Given the description of an element on the screen output the (x, y) to click on. 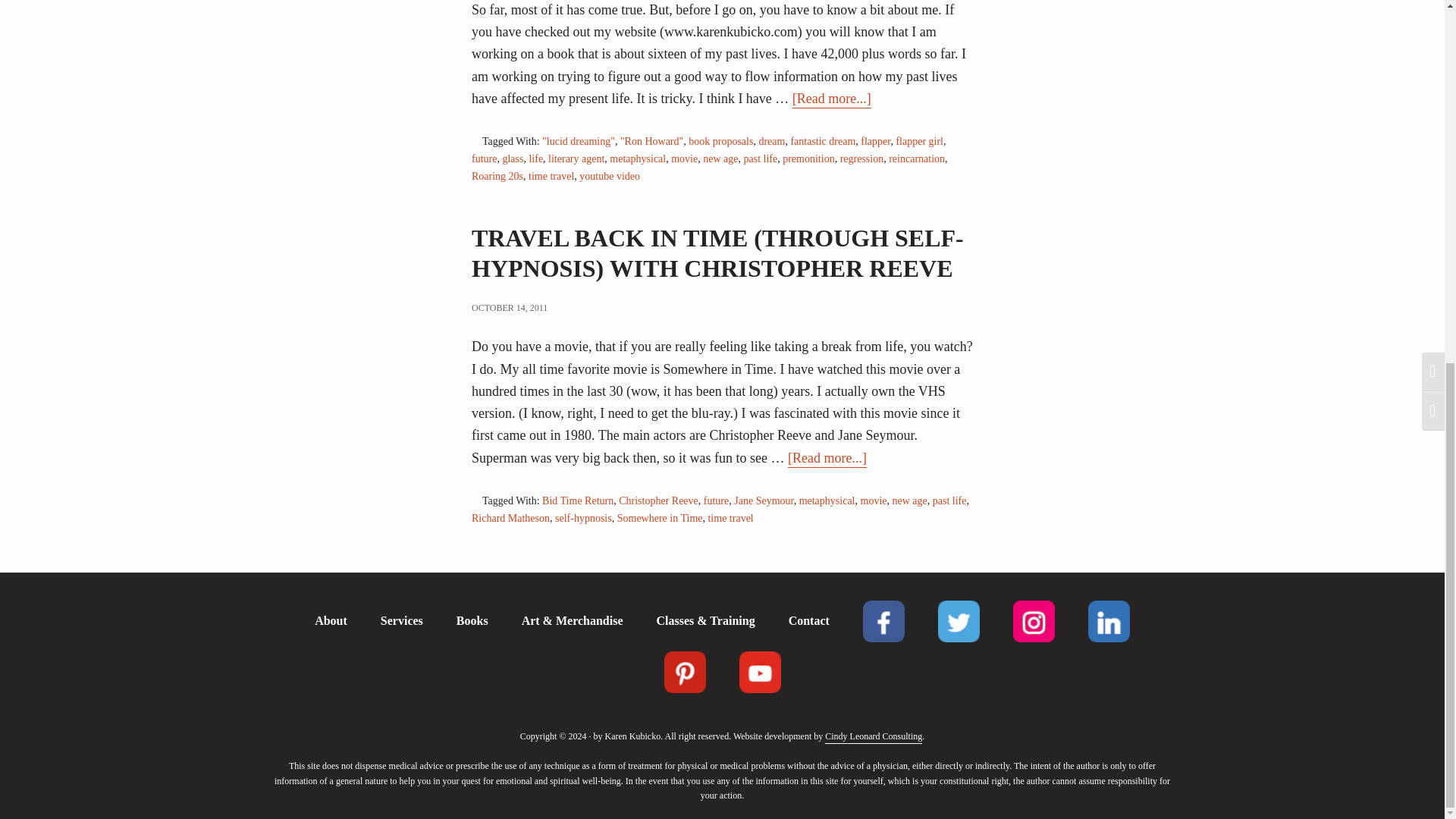
fantastic dream (823, 142)
dream (771, 142)
"Ron Howard" (651, 142)
"lucid dreaming" (577, 142)
book proposals (720, 142)
